Given the description of an element on the screen output the (x, y) to click on. 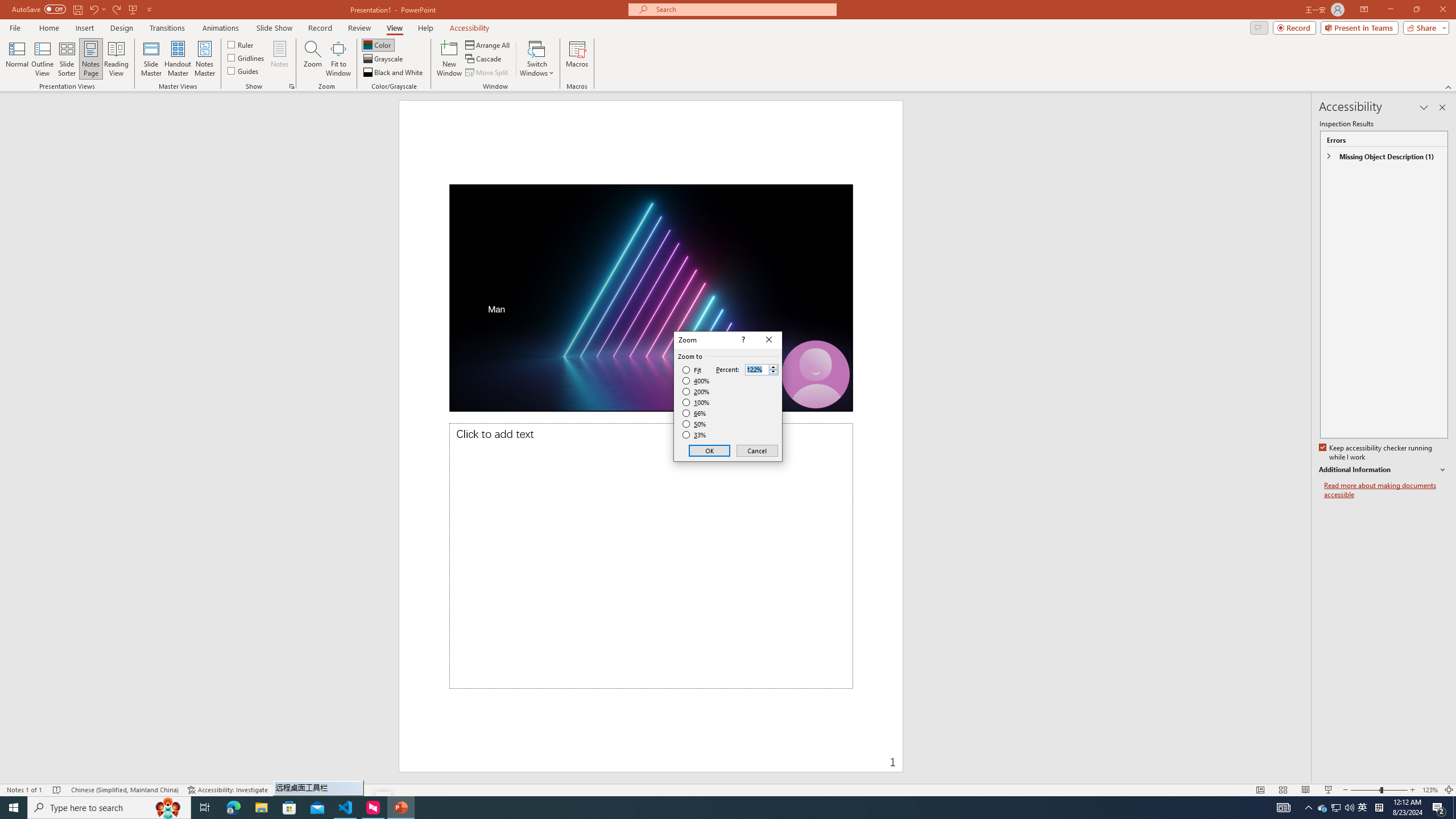
Grayscale (383, 58)
33% (694, 434)
Cascade (484, 58)
Notes Master (204, 58)
Fit (691, 370)
Zoom... (312, 58)
